Given the description of an element on the screen output the (x, y) to click on. 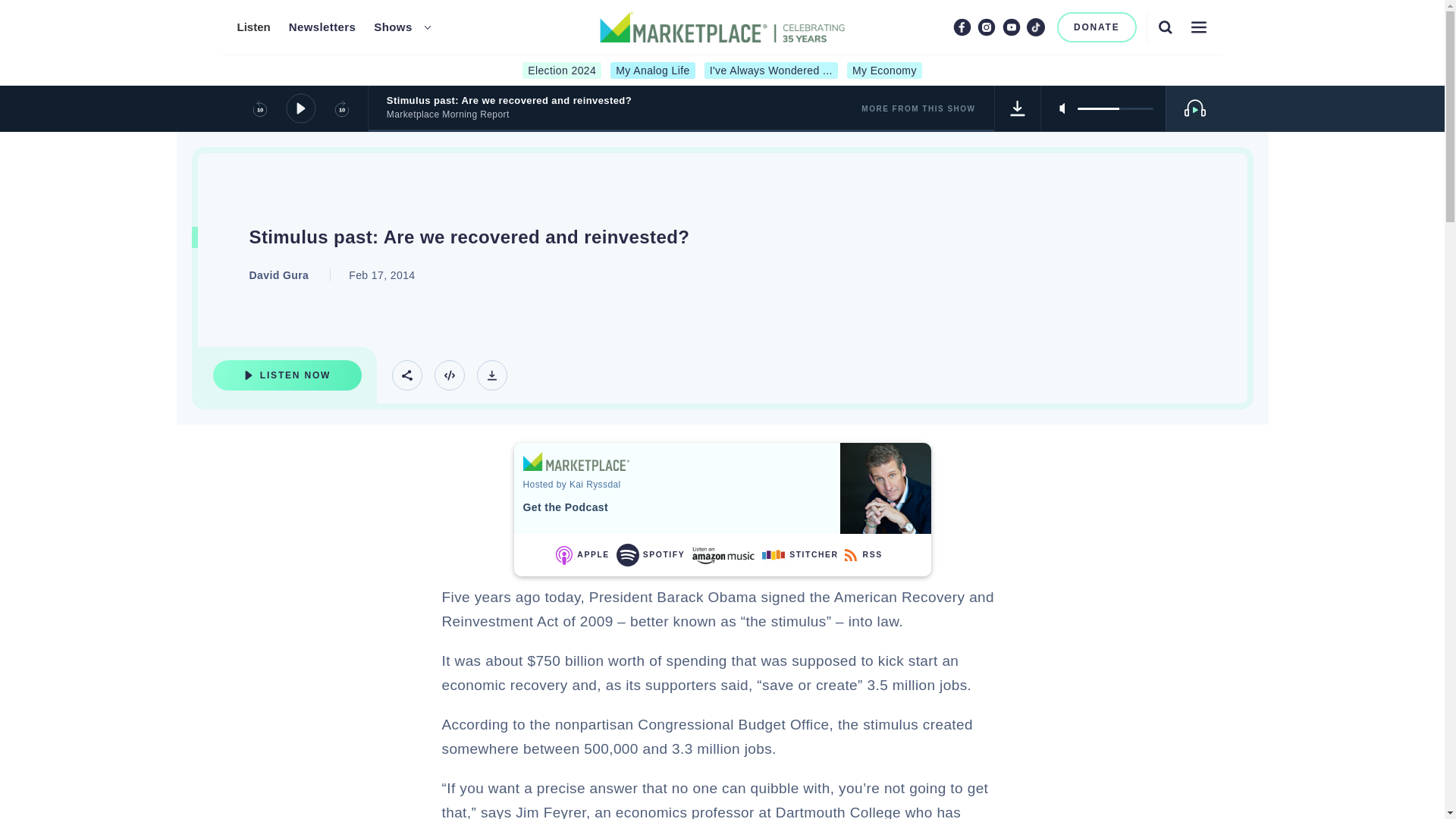
Listen Now (286, 374)
Listen (252, 26)
Download Track (1017, 108)
Newsletters (322, 27)
5 (1115, 108)
Marketplace (575, 461)
volume (1115, 108)
TikTok (1035, 27)
DONATE (1097, 27)
Download Track (491, 374)
Shows (393, 26)
Instagram (985, 27)
Youtube (1011, 27)
Facebook (962, 27)
